Given the description of an element on the screen output the (x, y) to click on. 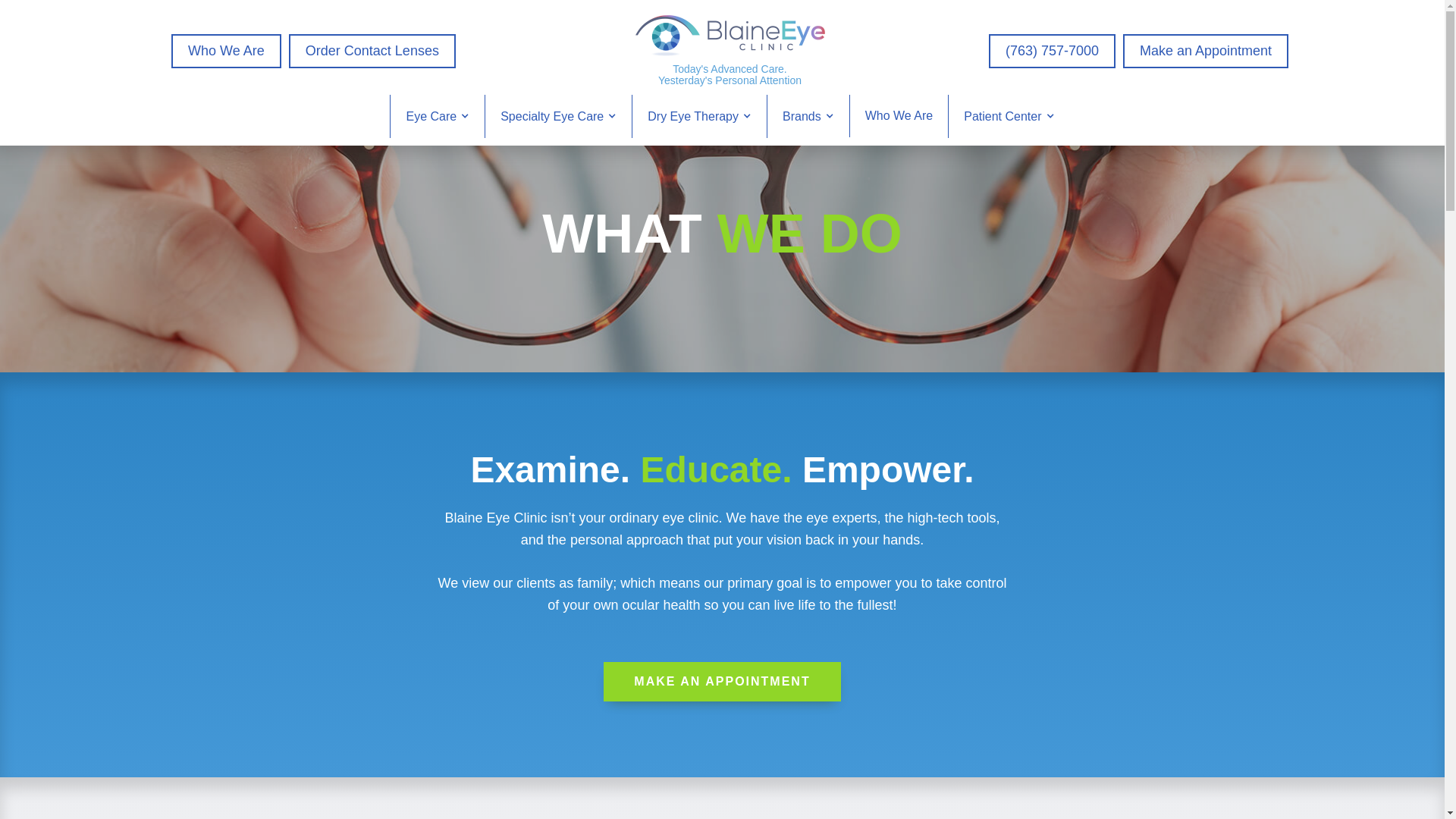
Who We Are (226, 51)
Who We Are (899, 116)
Order Contact Lenses (371, 51)
Specialty Eye Care (557, 116)
Brands (807, 116)
Eye Care (437, 116)
Patient Center (1008, 116)
Patient Center (1008, 116)
Click Here to Make an Appointment - Opens in a New Tab (722, 681)
Dry Eye Therapy (699, 116)
